Given the description of an element on the screen output the (x, y) to click on. 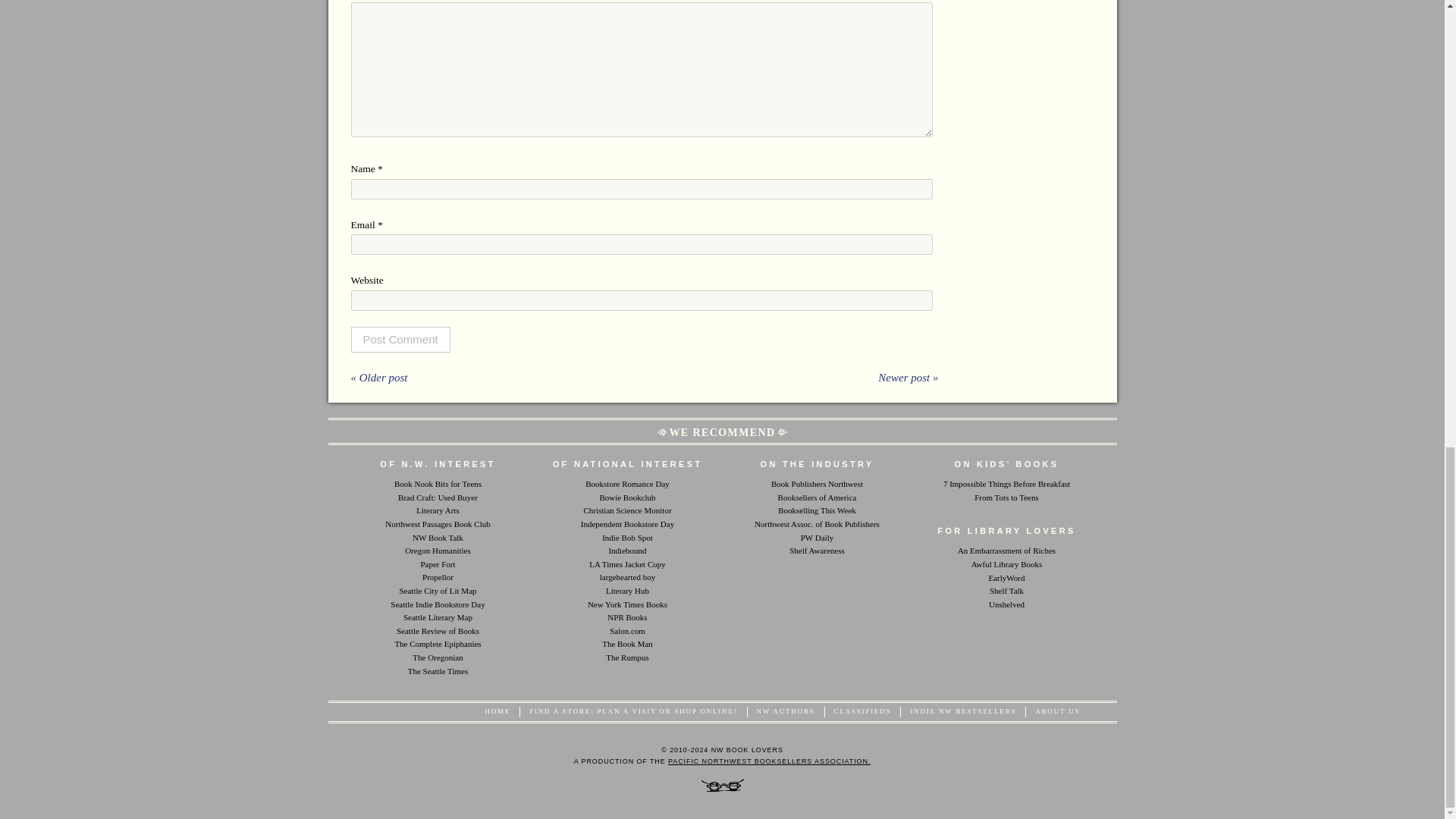
Book recs and author interviews from the beautiful Northwest (437, 537)
Aria is a teen book blogger from Eugene, OR (437, 483)
Post Comment (399, 339)
The Brian Doyle collection at The American Scholar (437, 644)
Book and Bible Repair (627, 644)
Go to the association website (769, 760)
Post Comment (399, 339)
Support and celebrate your local indie! (627, 523)
